Given the description of an element on the screen output the (x, y) to click on. 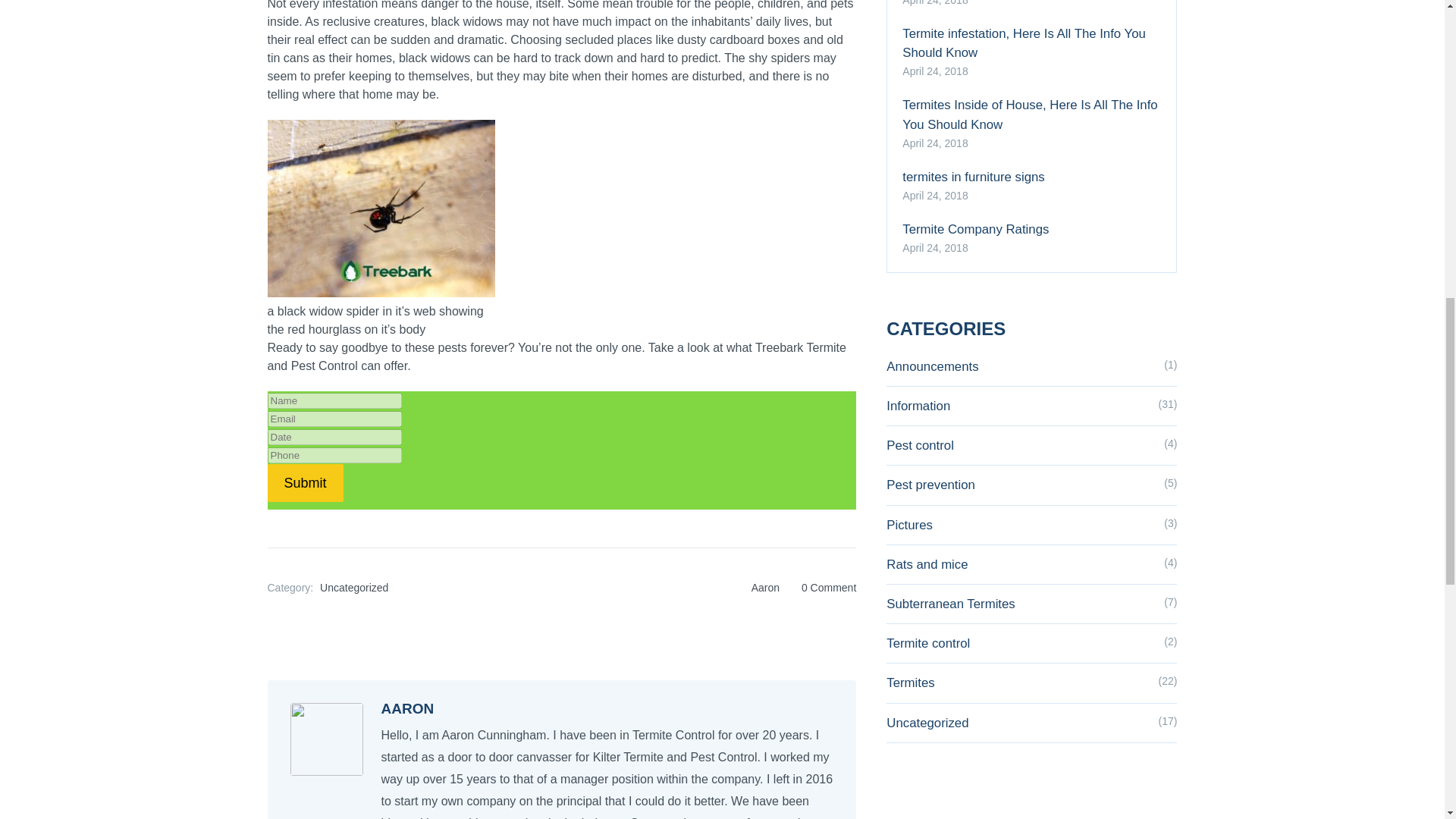
termites in furniture signs (1031, 176)
Uncategorized (354, 587)
Aaron (764, 587)
Termite Company Ratings (1031, 229)
Submit (304, 483)
Posts by Aaron (764, 587)
AARON (406, 708)
Termite infestation, Here Is All The Info You Should Know (1031, 43)
0 Comment (829, 587)
Submit (304, 483)
